Given the description of an element on the screen output the (x, y) to click on. 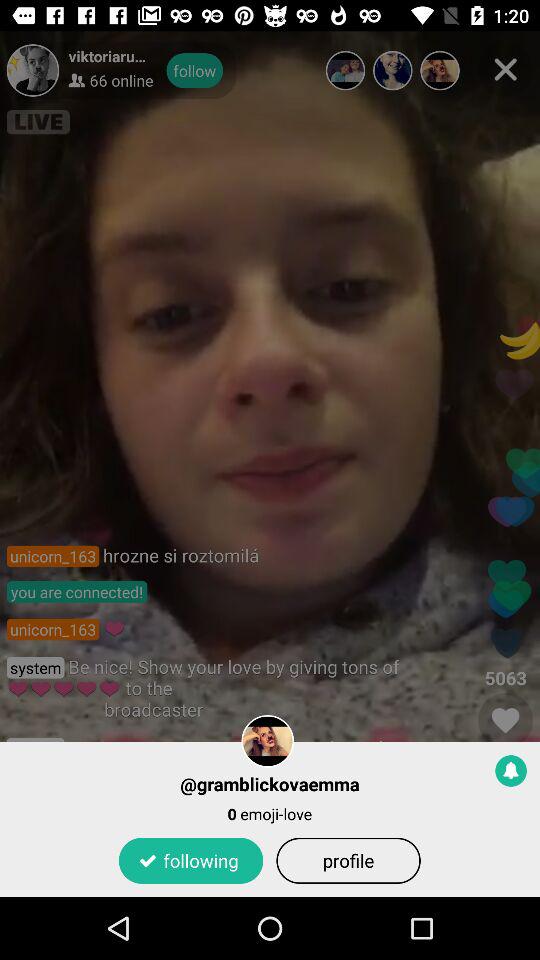
press the item next to profile (190, 860)
